Given the description of an element on the screen output the (x, y) to click on. 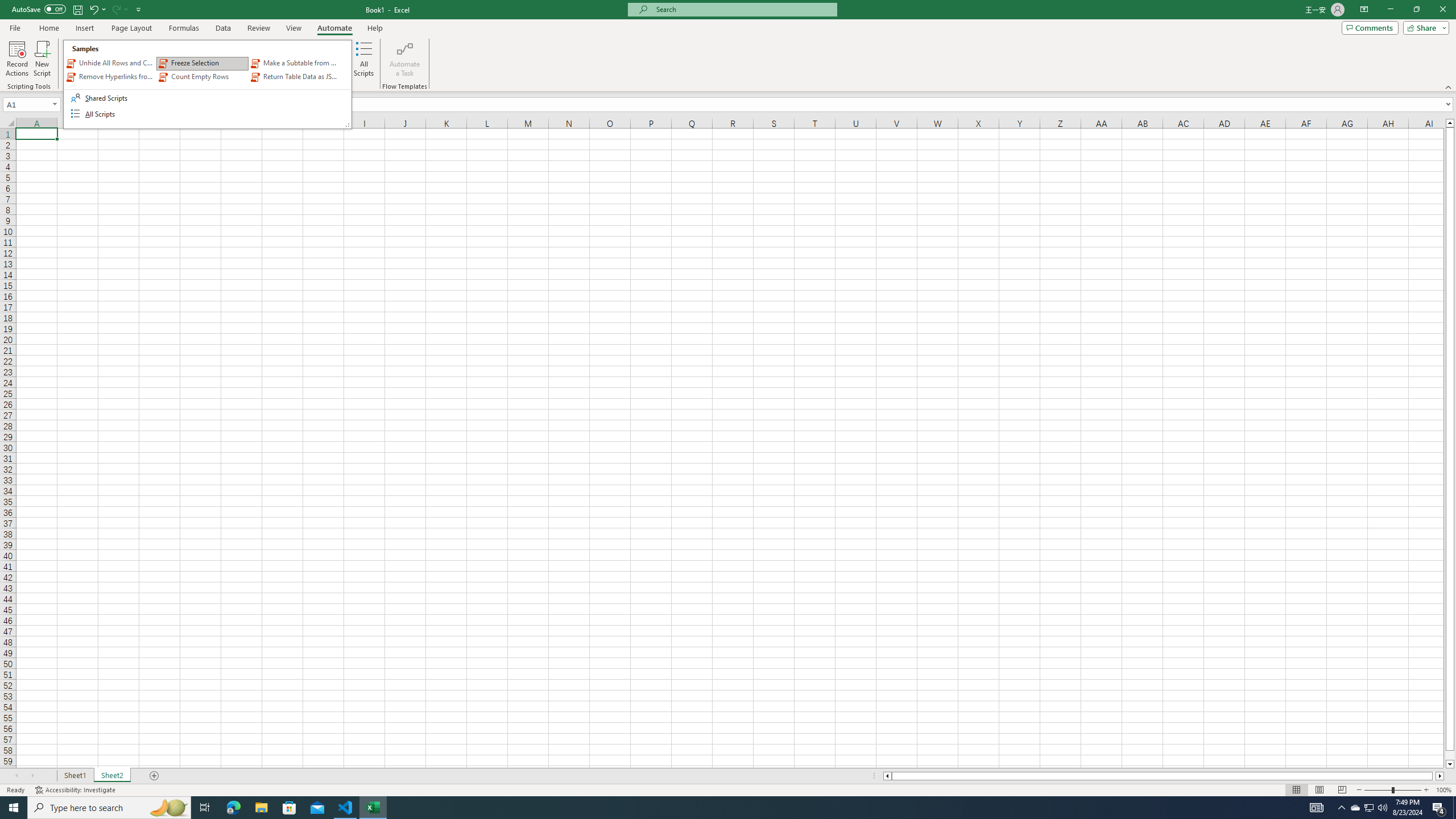
Insert (83, 28)
Page down (1449, 755)
Excel - 1 running window (373, 807)
Action Center, 4 new notifications (1439, 807)
Undo (96, 9)
Task View (204, 807)
Ribbon Display Options (1364, 9)
Search highlights icon opens search home window (167, 807)
User Promoted Notification Area (1368, 807)
Zoom Out (1377, 790)
Page Layout (131, 28)
Zoom (1392, 790)
Microsoft Edge (233, 807)
